Given the description of an element on the screen output the (x, y) to click on. 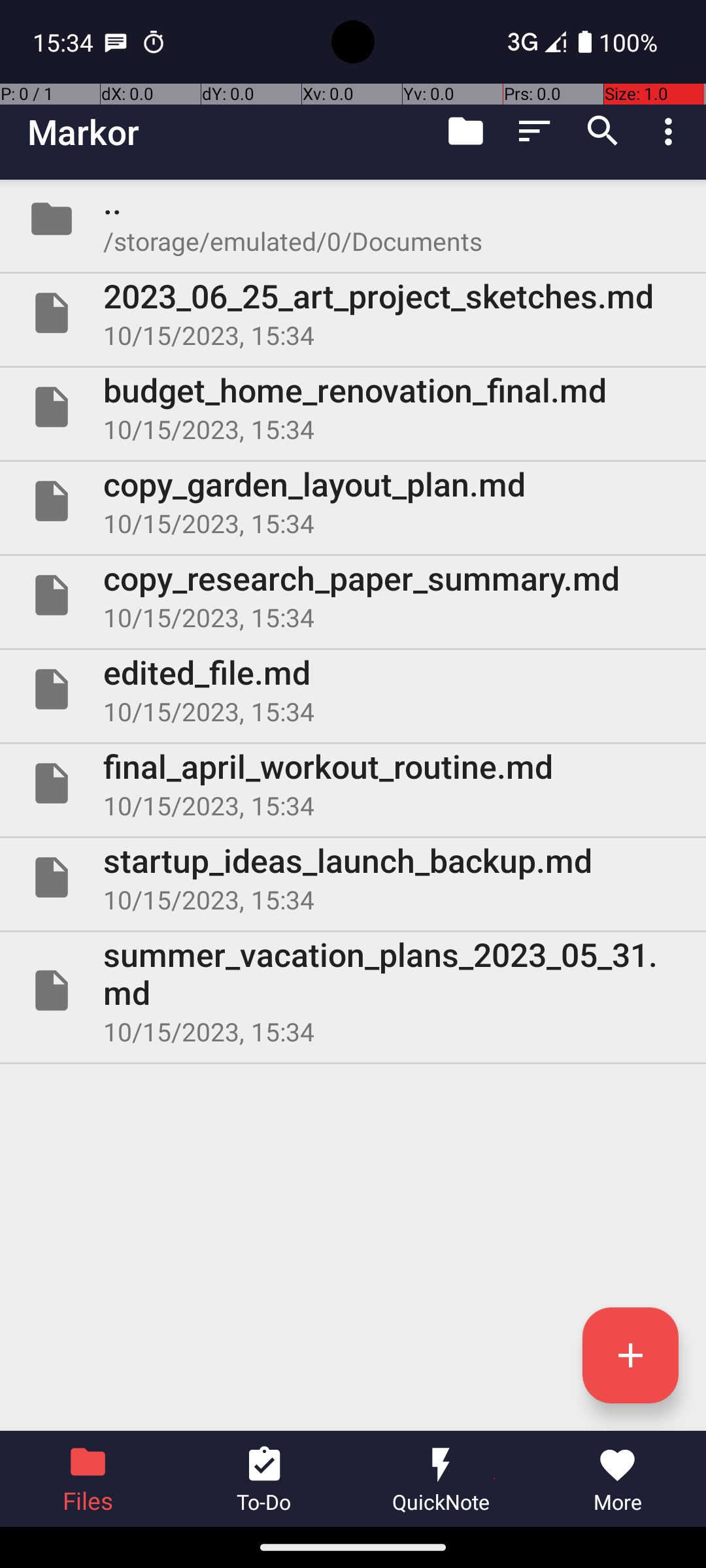
File 2023_06_25_art_project_sketches.md  Element type: android.widget.LinearLayout (353, 312)
File budget_home_renovation_final.md  Element type: android.widget.LinearLayout (353, 406)
File copy_garden_layout_plan.md  Element type: android.widget.LinearLayout (353, 500)
File copy_research_paper_summary.md  Element type: android.widget.LinearLayout (353, 594)
File edited_file.md  Element type: android.widget.LinearLayout (353, 689)
File final_april_workout_routine.md  Element type: android.widget.LinearLayout (353, 783)
File startup_ideas_launch_backup.md  Element type: android.widget.LinearLayout (353, 877)
File summer_vacation_plans_2023_05_31.md  Element type: android.widget.LinearLayout (353, 990)
